Given the description of an element on the screen output the (x, y) to click on. 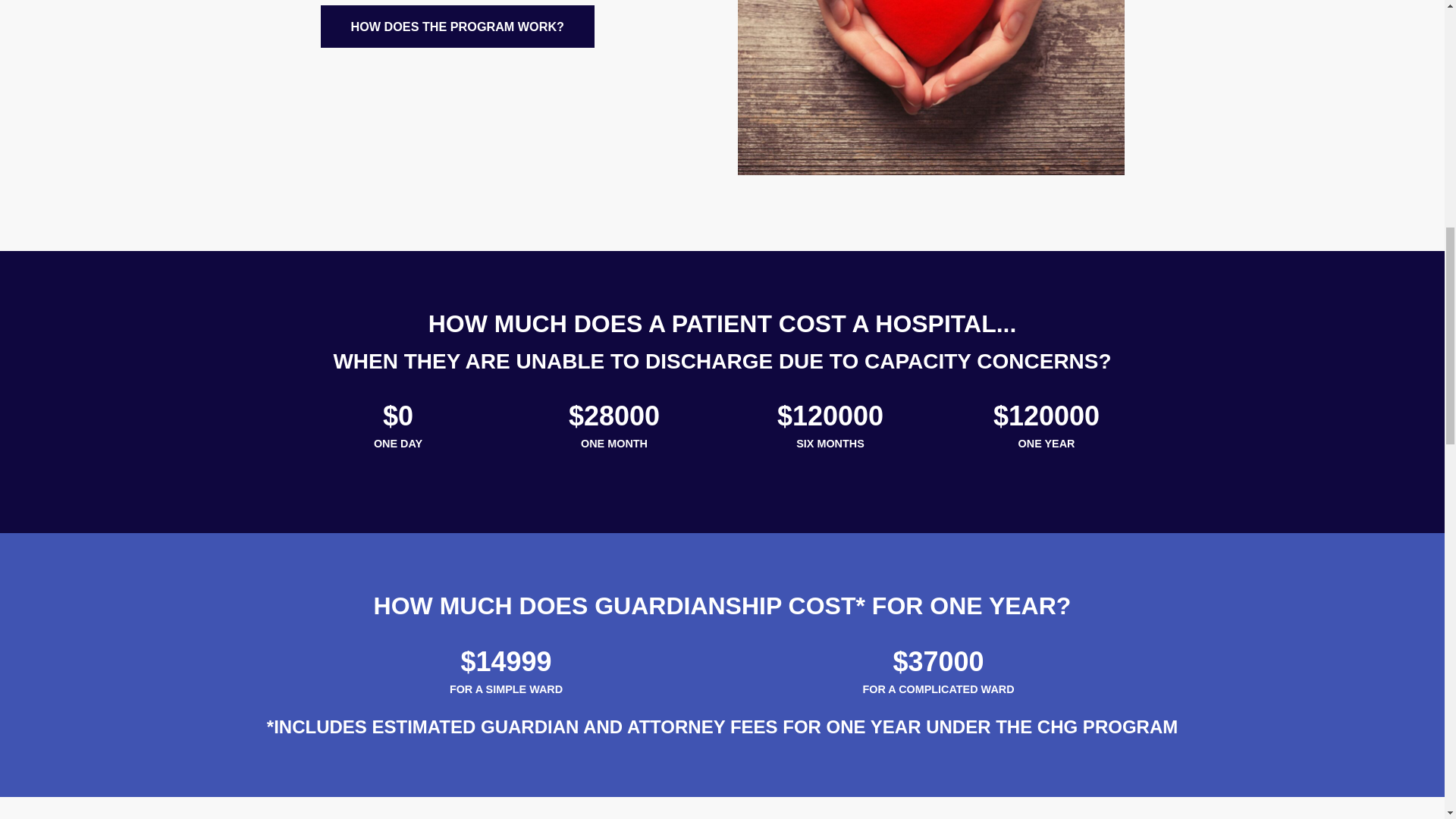
HOW DOES THE PROGRAM WORK? (457, 25)
